Given the description of an element on the screen output the (x, y) to click on. 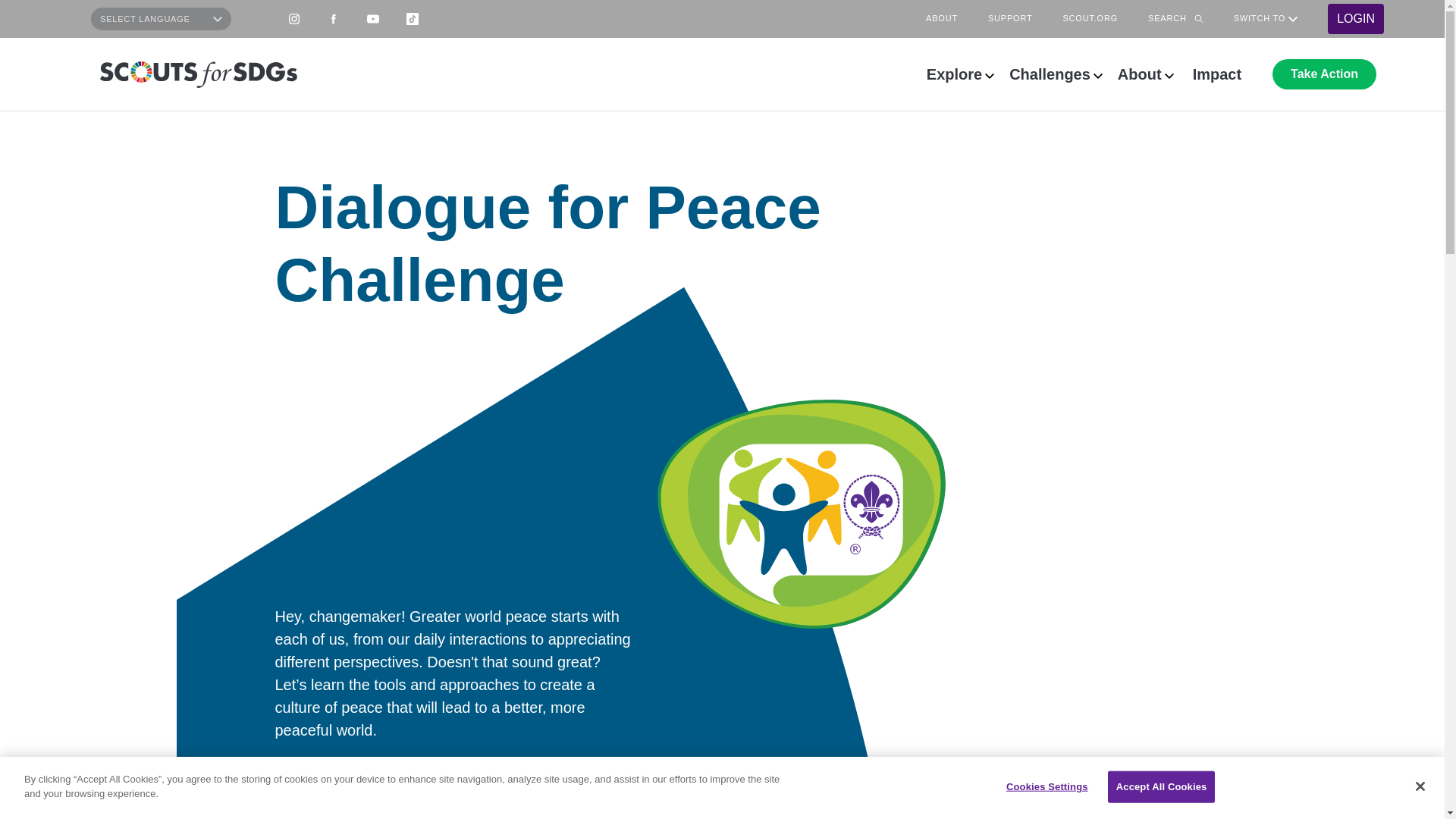
YouTube (373, 19)
Explore (960, 74)
TikTok (412, 19)
Challenges (1055, 74)
SEARCH (1176, 18)
SCOUT.ORG (1090, 18)
SWITCH TO (1265, 18)
Impact (1216, 74)
SKIP TO MAIN CONTENT (5, 6)
ABOUT (942, 18)
Instagram (293, 19)
Facebook (333, 19)
SUPPORT (1010, 18)
Take Action (1323, 73)
About (1145, 74)
